Given the description of an element on the screen output the (x, y) to click on. 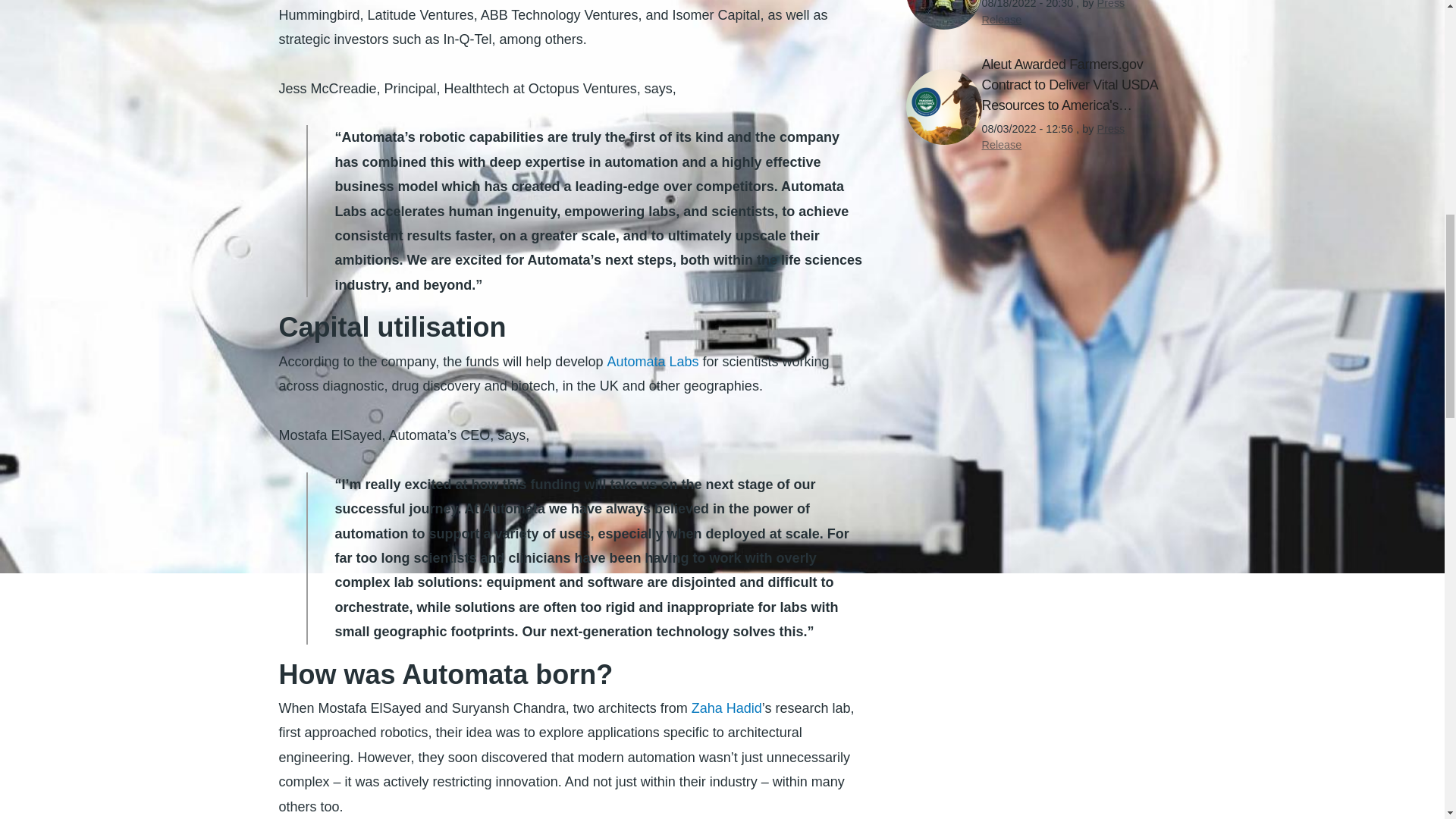
View user profile. (1052, 136)
View user profile. (1052, 12)
